Given the description of an element on the screen output the (x, y) to click on. 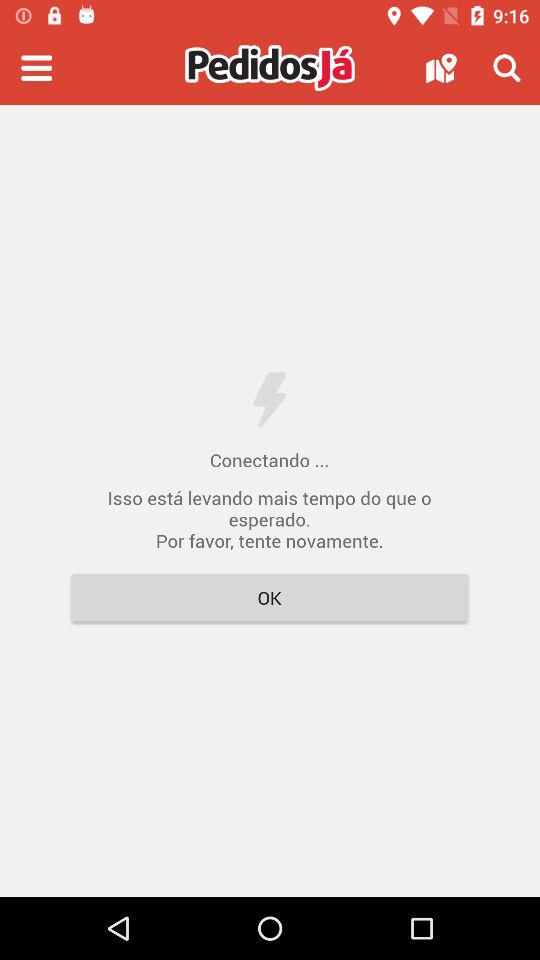
open app 's menu (36, 68)
